Given the description of an element on the screen output the (x, y) to click on. 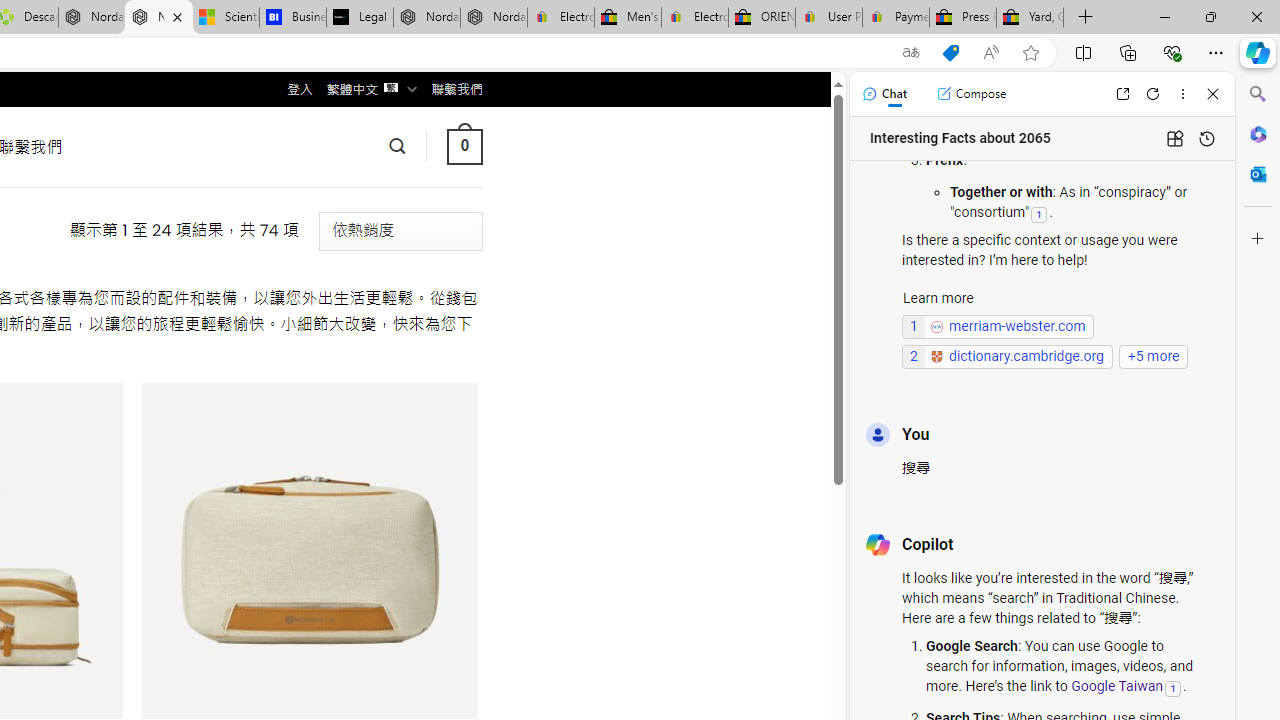
Minimize Search pane (1258, 94)
